Given the description of an element on the screen output the (x, y) to click on. 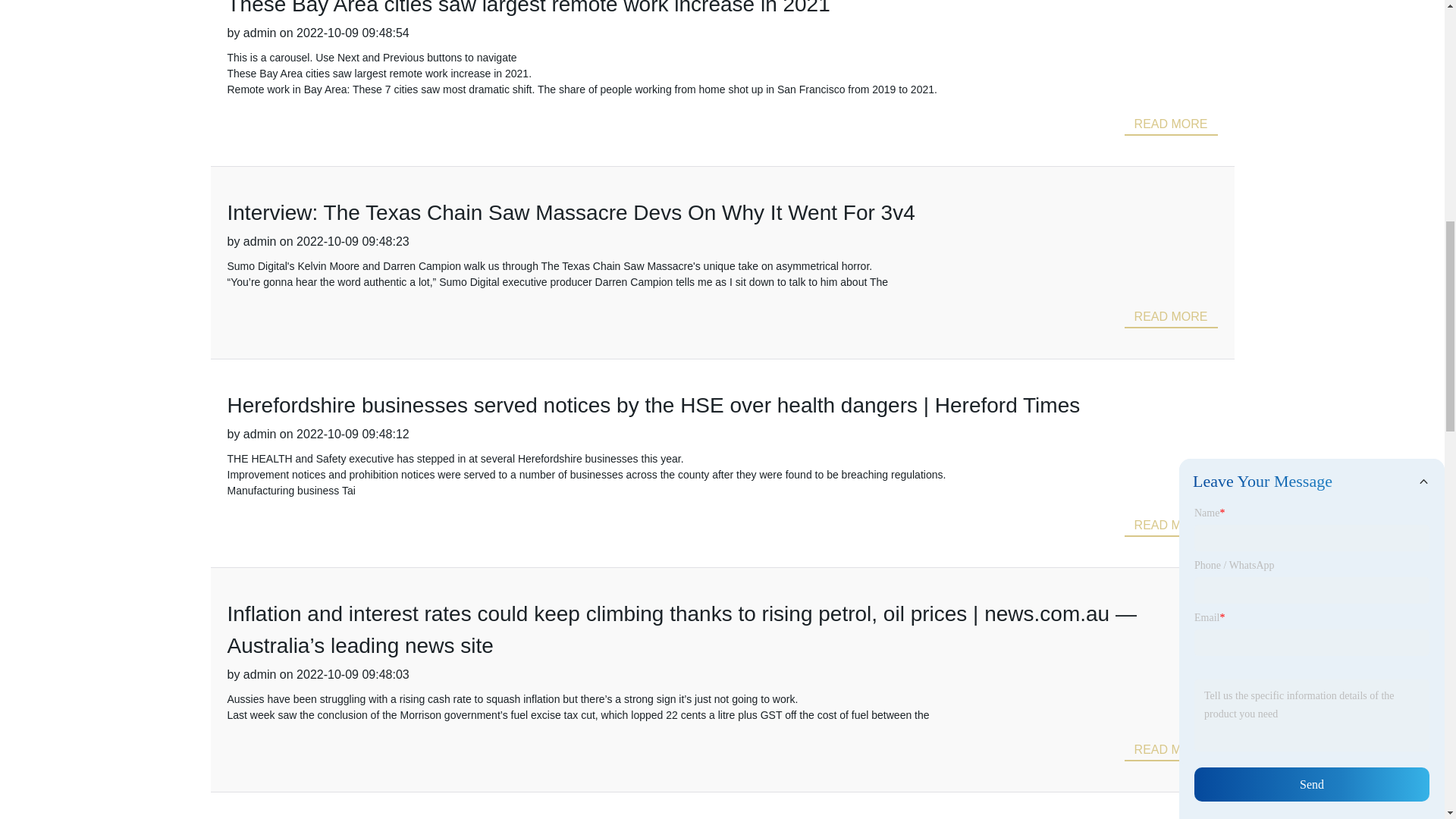
READ MORE (1170, 123)
READ MORE (1170, 315)
READ MORE (1170, 525)
